Given the description of an element on the screen output the (x, y) to click on. 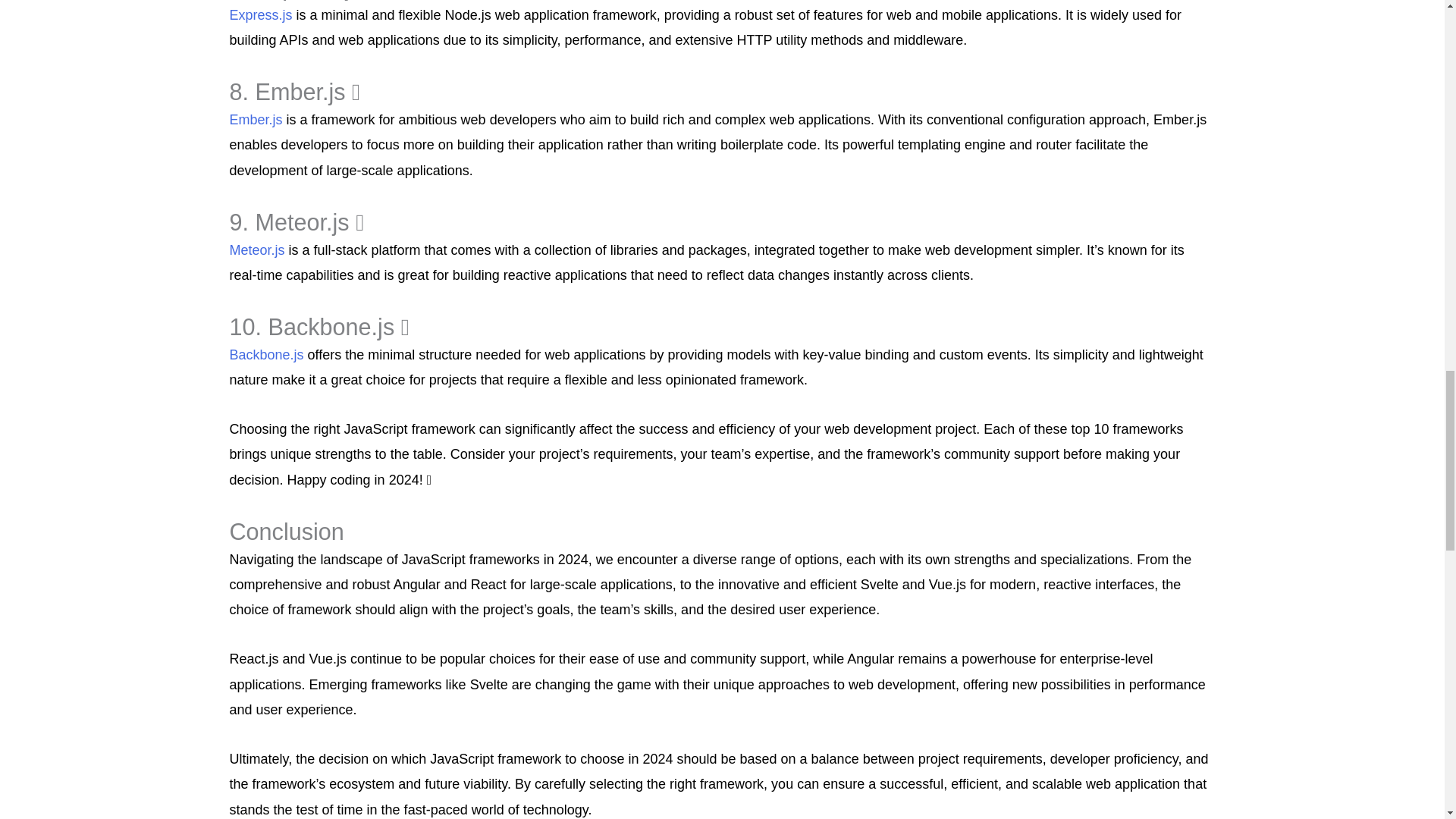
Backbone.js (265, 354)
Express.js (260, 14)
Express.js (260, 14)
Ember.js (255, 119)
Backbone.js (265, 354)
Meteor.js (255, 249)
Ember.js (255, 119)
Meteor.js (255, 249)
